Given the description of an element on the screen output the (x, y) to click on. 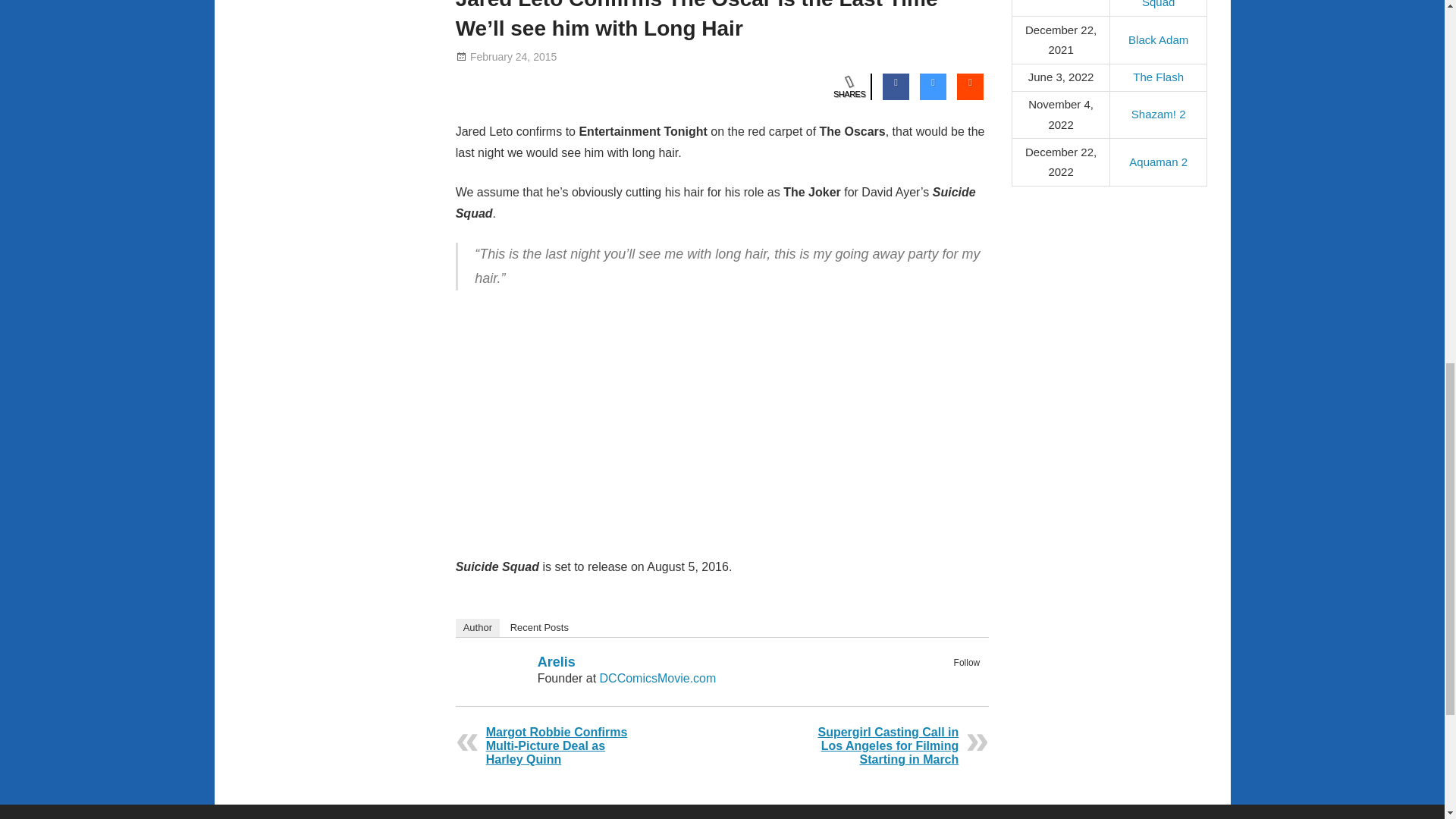
News (637, 55)
View all posts by Arelis (598, 55)
Author (477, 628)
Suicide Squad (690, 55)
Margot Robbie Confirms Multi-Picture Deal as Harley Quinn (556, 745)
Facebook (949, 679)
February 24, 2015 (513, 55)
The Flash (1157, 76)
Black Adam (1158, 39)
Movies (601, 55)
Arelis (556, 661)
3:46 PM (513, 55)
Arelis (598, 55)
The Suicide Squad (1158, 4)
